Given the description of an element on the screen output the (x, y) to click on. 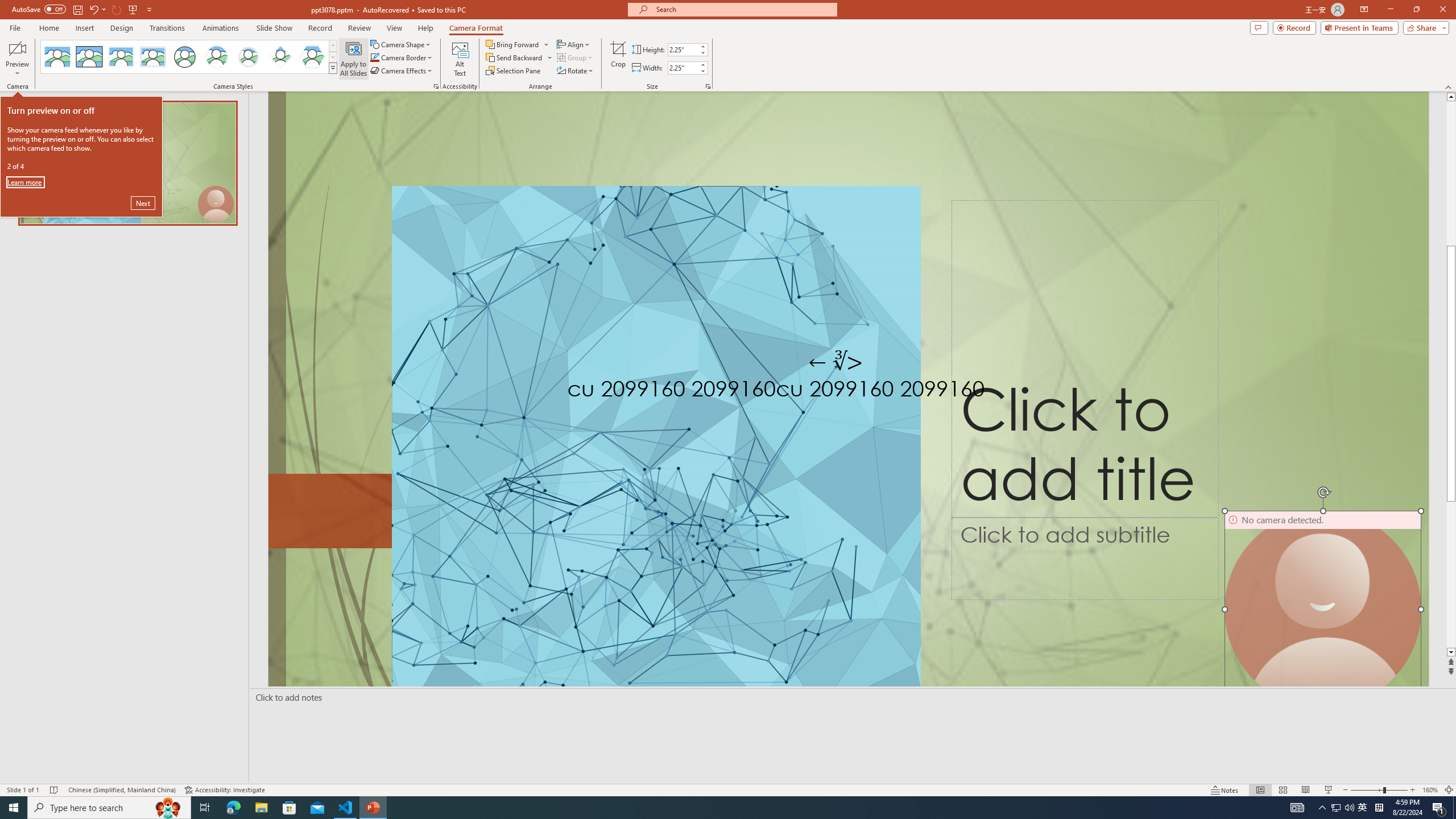
Center Shadow Circle (216, 56)
Send Backward (518, 56)
Soft Edge Circle (248, 56)
No Style (57, 56)
Selection Pane... (513, 69)
